Given the description of an element on the screen output the (x, y) to click on. 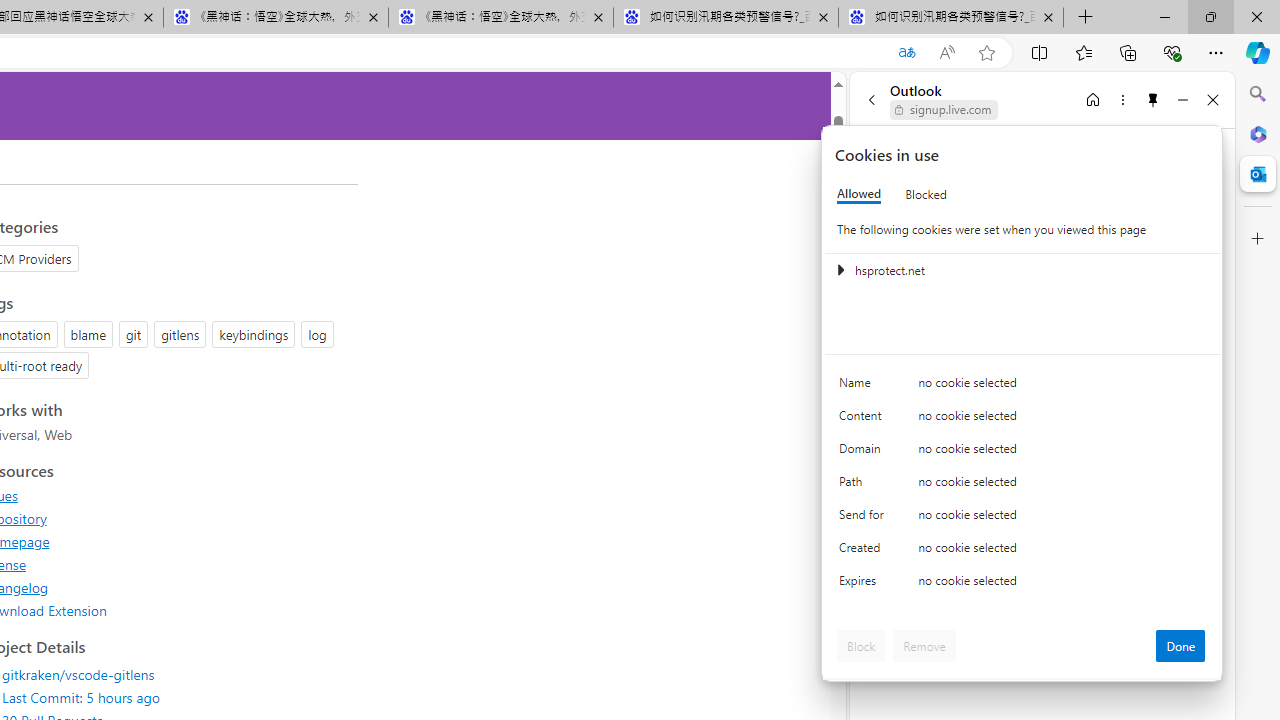
Created (864, 552)
Domain (864, 452)
no cookie selected (1062, 585)
Path (864, 485)
Class: c0153 c0157 (1023, 584)
Send for (864, 518)
Content (864, 420)
Name (864, 387)
Blocked (925, 193)
Class: c0153 c0157 c0154 (1023, 386)
Expires (864, 585)
Block (861, 645)
Done (1179, 645)
Remove (924, 645)
Allowed (859, 193)
